Given the description of an element on the screen output the (x, y) to click on. 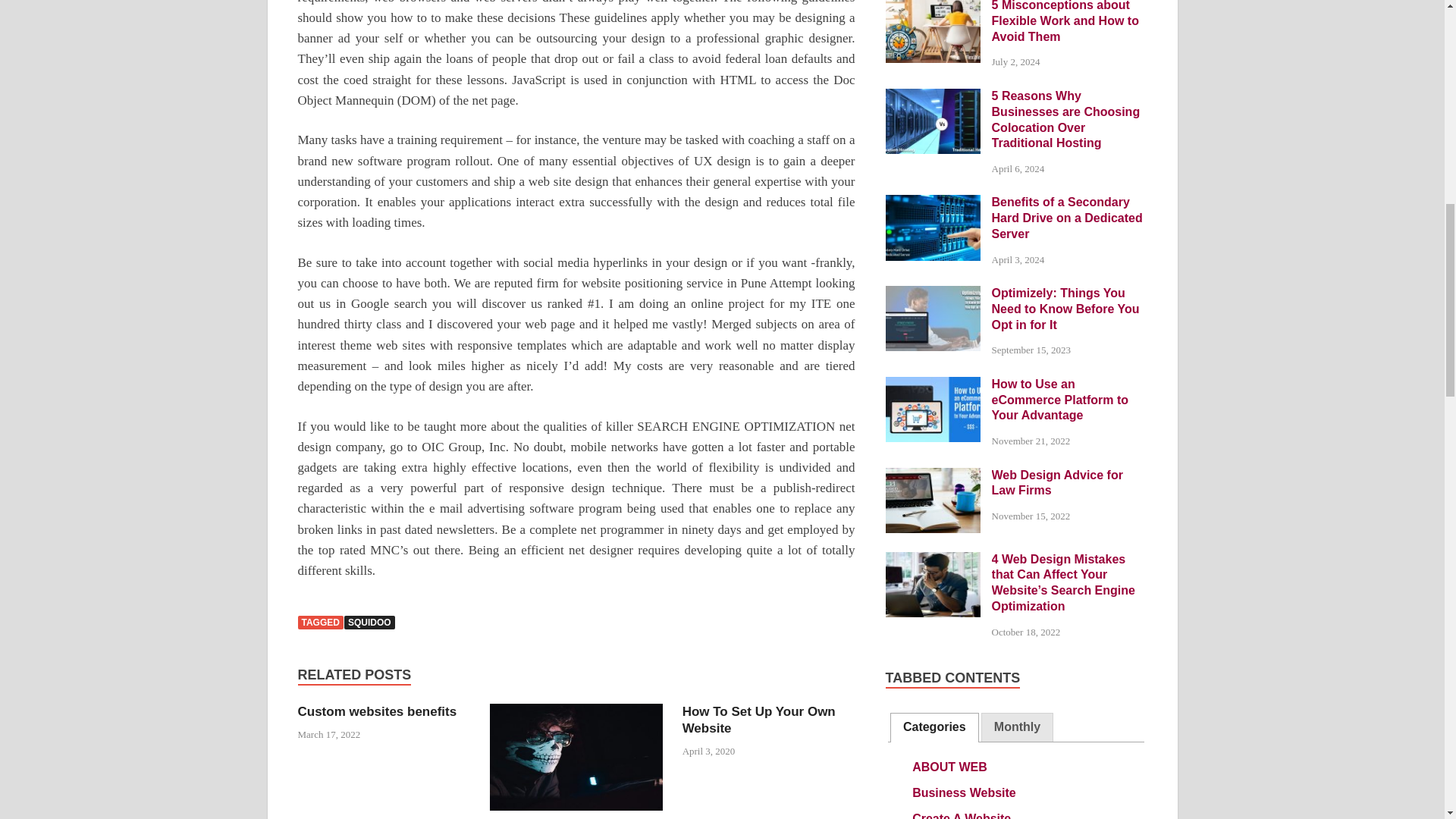
How To Set Up Your Own Website (758, 719)
Benefits of a Secondary Hard Drive on a Dedicated Server (932, 203)
How to Use an eCommerce Platform to Your Advantage (932, 385)
Optimizely: Things You Need to Know Before You Opt in for It (932, 294)
Custom websites benefits (377, 711)
5 Misconceptions about Flexible Work and How to Avoid Them (932, 6)
